Given the description of an element on the screen output the (x, y) to click on. 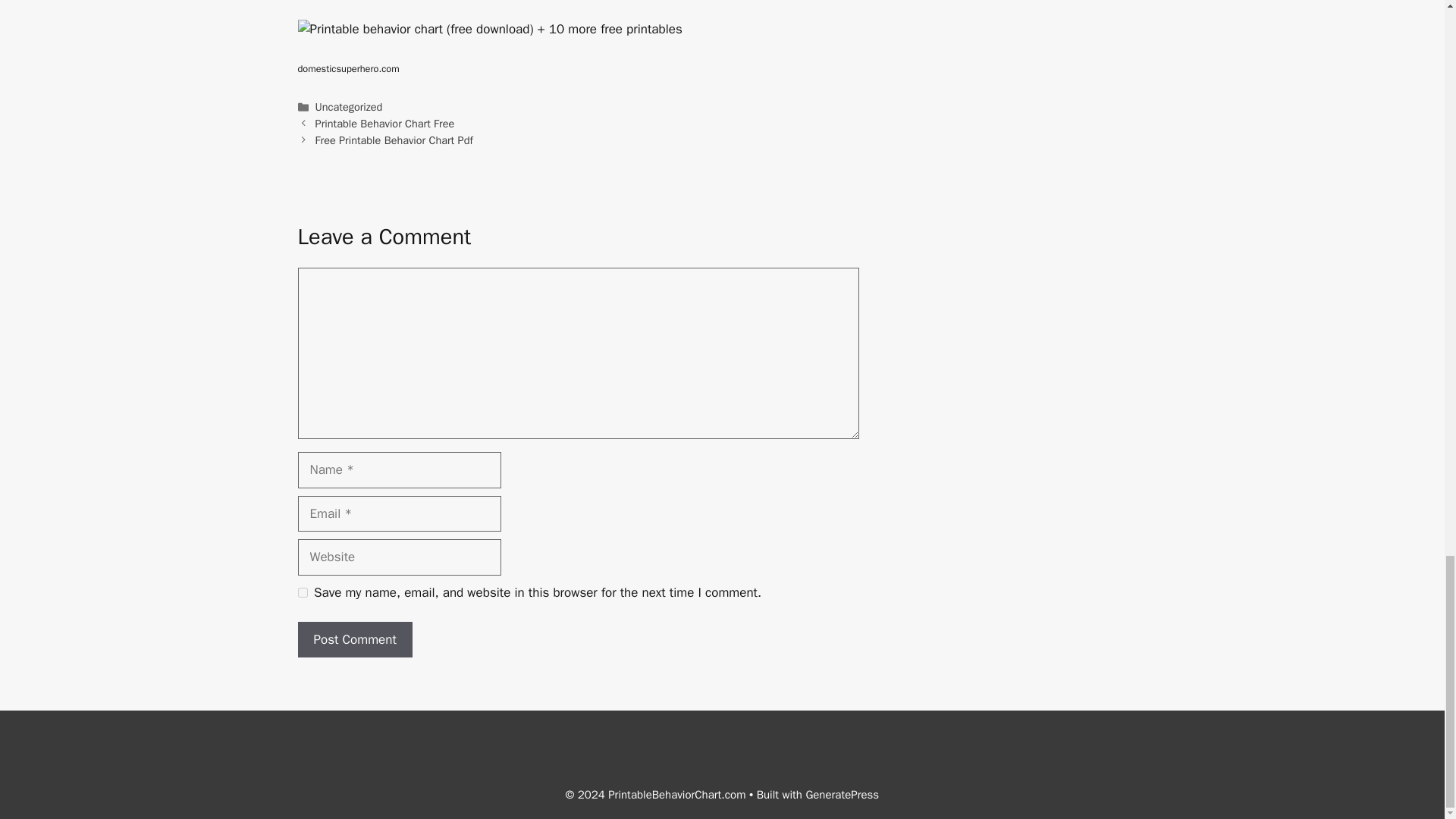
Post Comment (354, 639)
Post Comment (354, 639)
Uncategorized (348, 106)
Free Printable Behavior Chart Pdf (394, 140)
yes (302, 592)
Printable Behavior Chart Free (384, 123)
GeneratePress (842, 794)
